Given the description of an element on the screen output the (x, y) to click on. 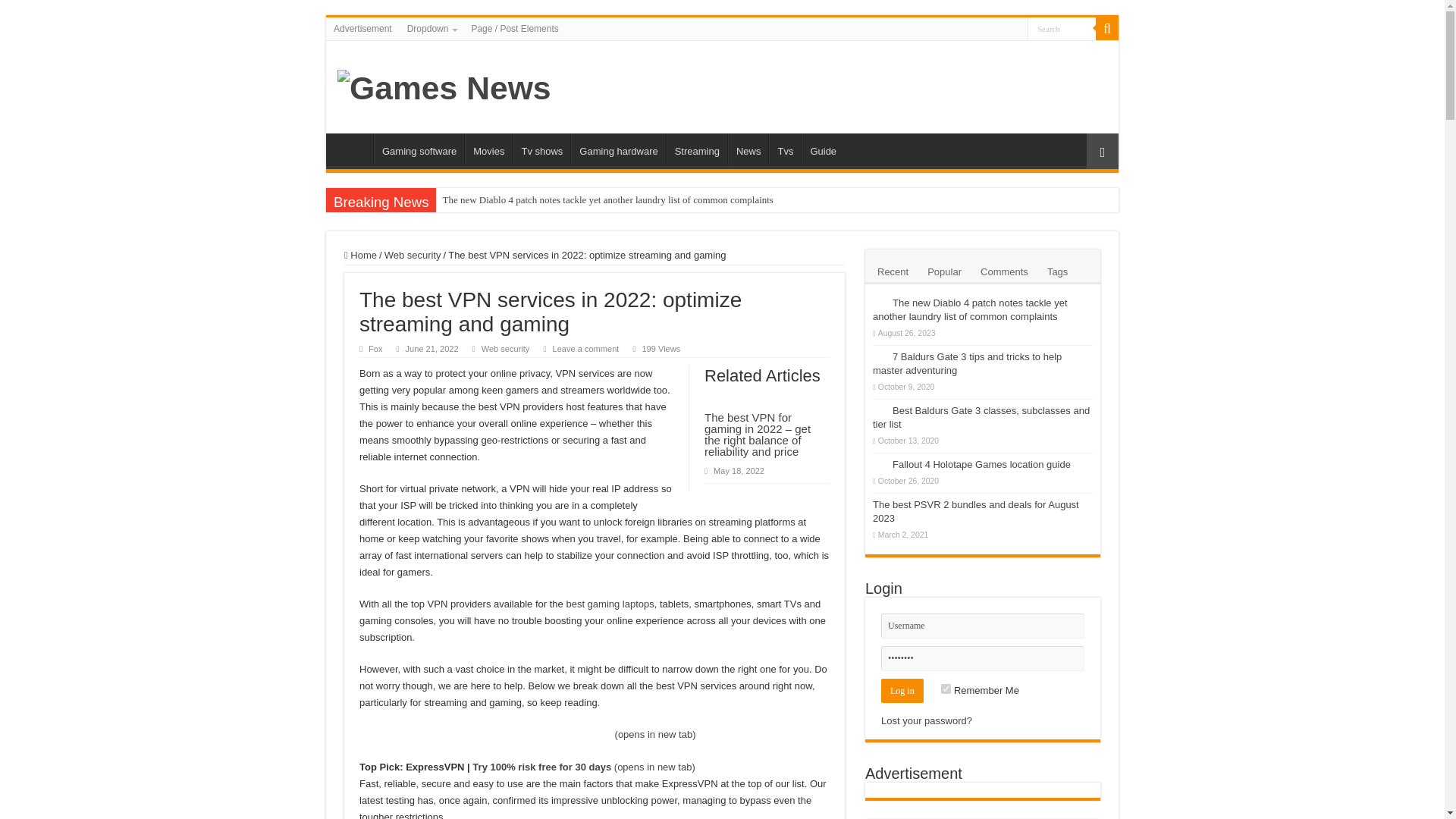
best gaming laptops (609, 603)
Log in (901, 690)
forever (945, 688)
Username (982, 625)
Gaming software (419, 149)
Leave a comment (586, 347)
Search (1061, 28)
News (748, 149)
Advertisement (362, 28)
Streaming (696, 149)
Web security (505, 347)
Password (982, 658)
Home (360, 255)
Fox (374, 347)
